Given the description of an element on the screen output the (x, y) to click on. 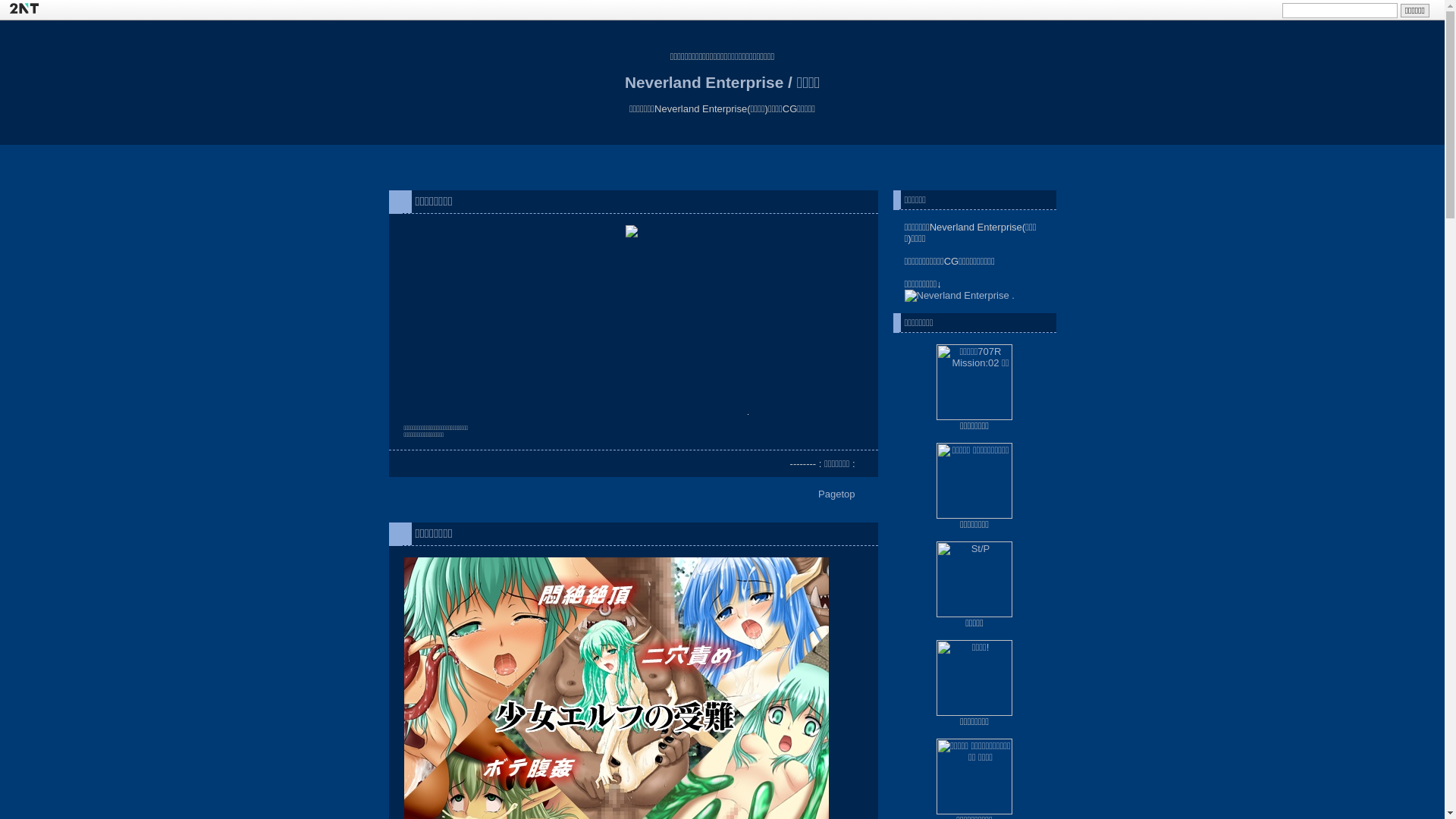
Pagetop Element type: text (836, 493)
. Element type: text (1012, 295)
St/P Element type: hover (974, 579)
